Given the description of an element on the screen output the (x, y) to click on. 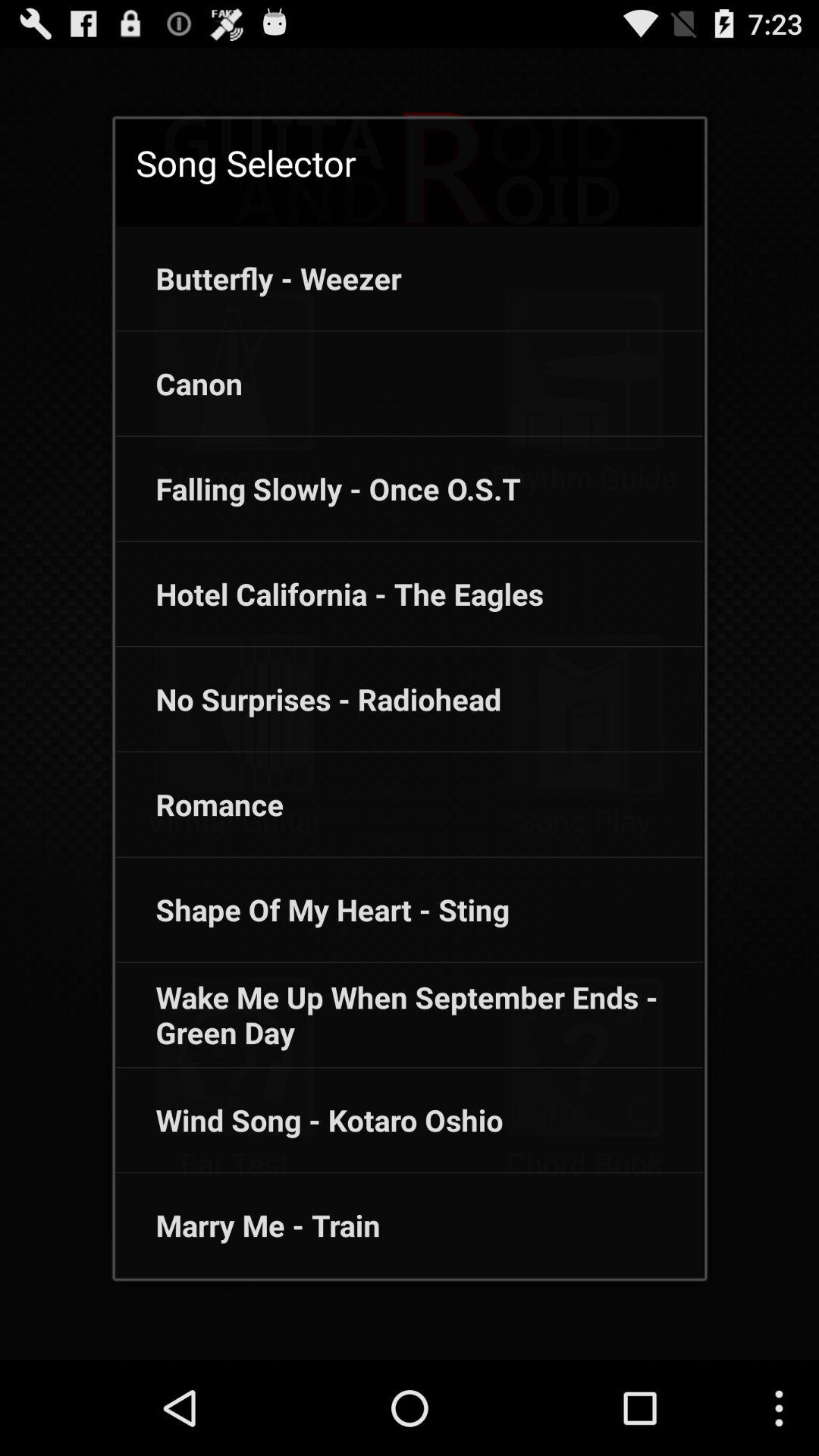
scroll to shape of my (312, 909)
